Given the description of an element on the screen output the (x, y) to click on. 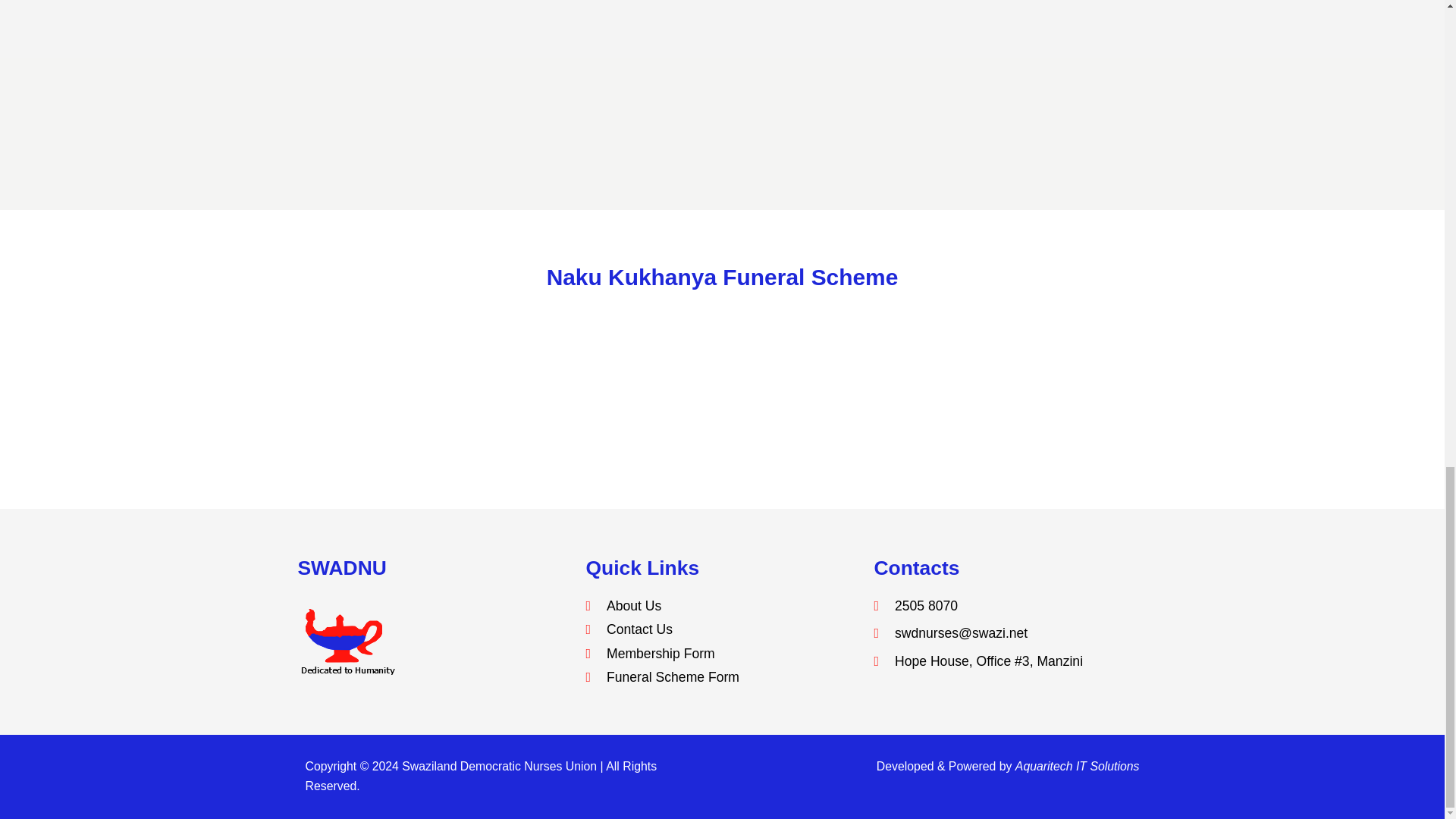
Membership Form (722, 653)
About Us (722, 605)
Aquaritech IT Solutions (1077, 766)
Contact Us (722, 629)
Funeral Scheme Form (722, 677)
